Given the description of an element on the screen output the (x, y) to click on. 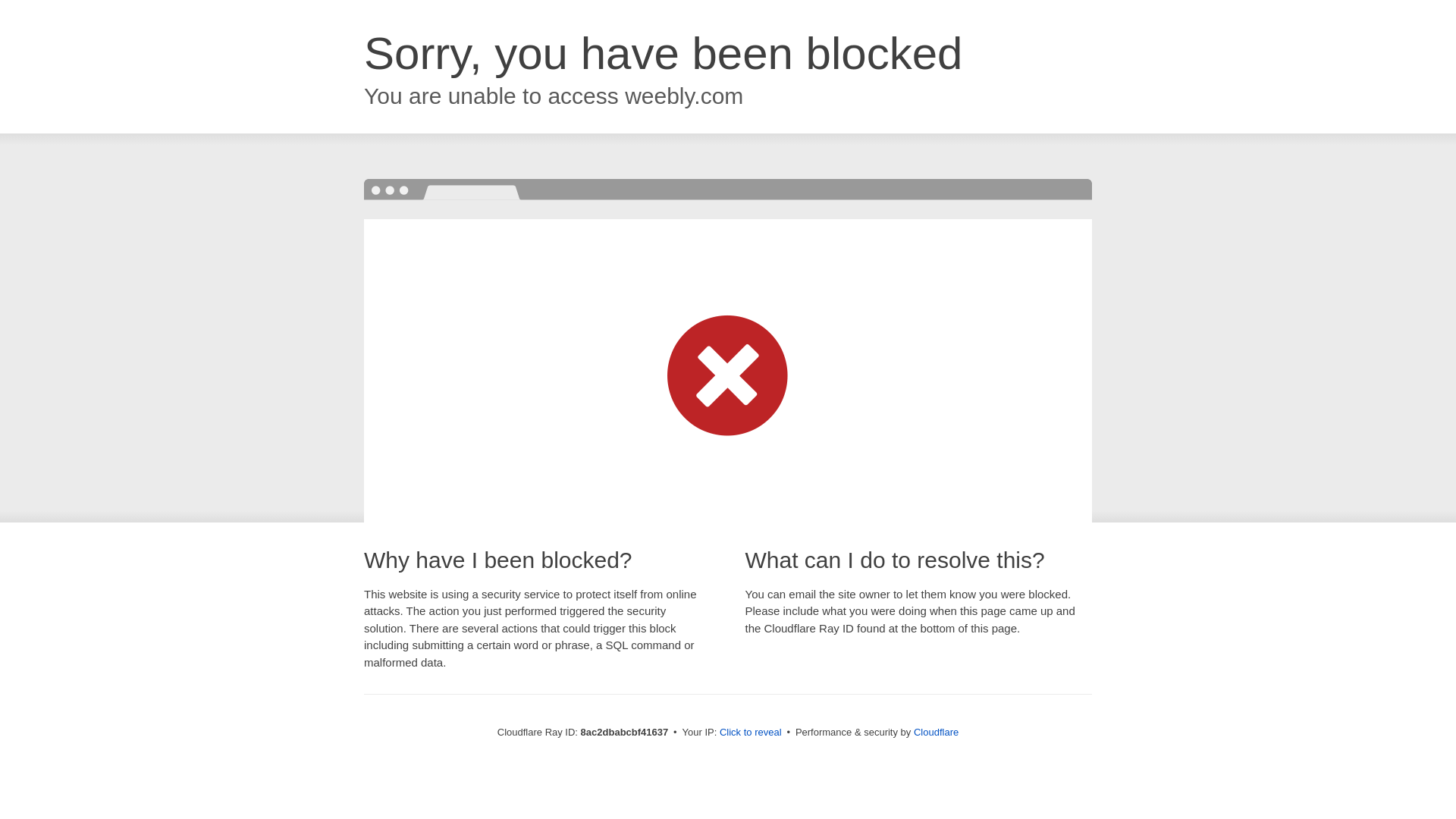
Click to reveal (750, 732)
Cloudflare (936, 731)
